Given the description of an element on the screen output the (x, y) to click on. 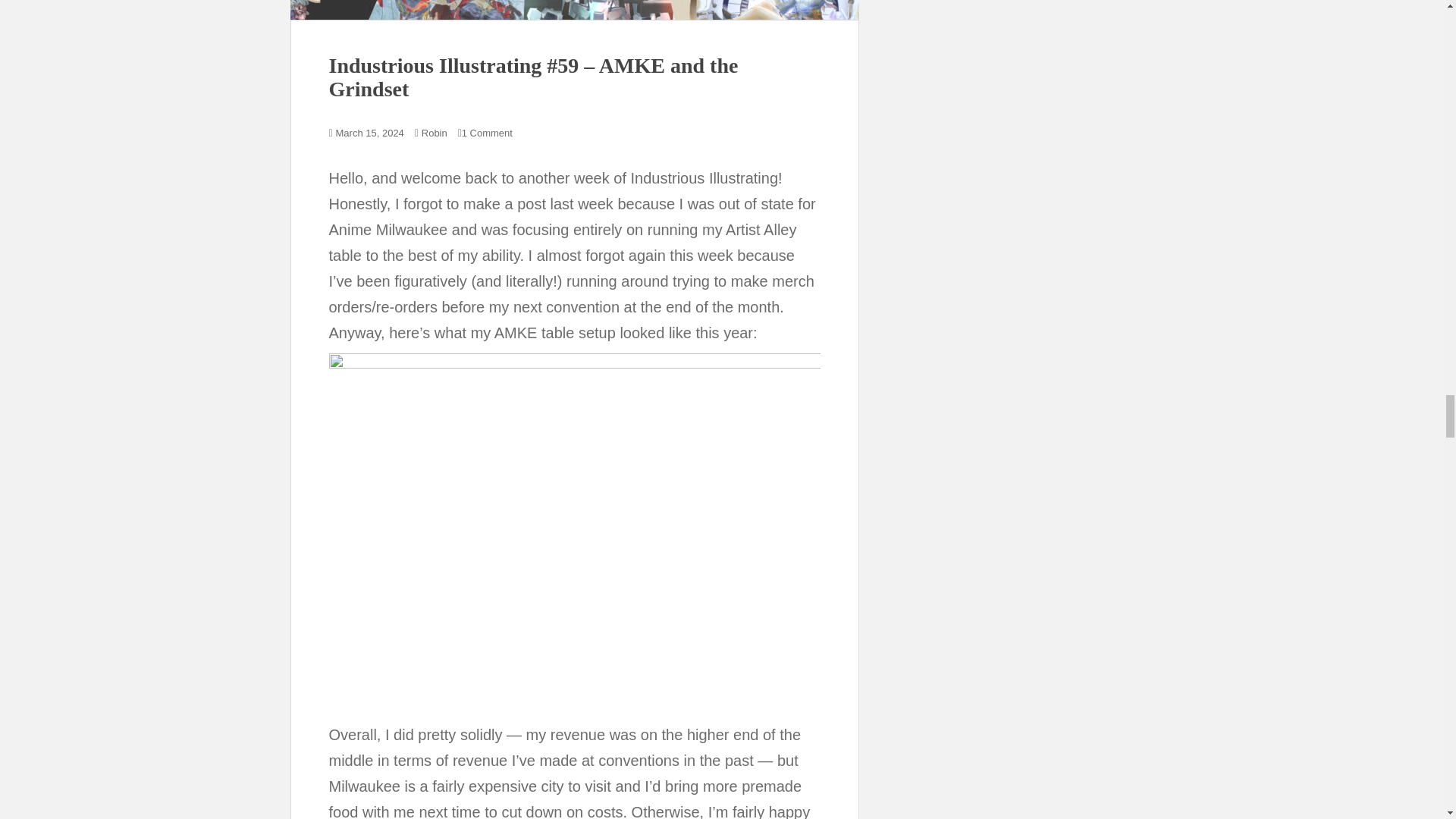
1 Comment (486, 132)
Robin (434, 132)
March 15, 2024 (370, 132)
